Given the description of an element on the screen output the (x, y) to click on. 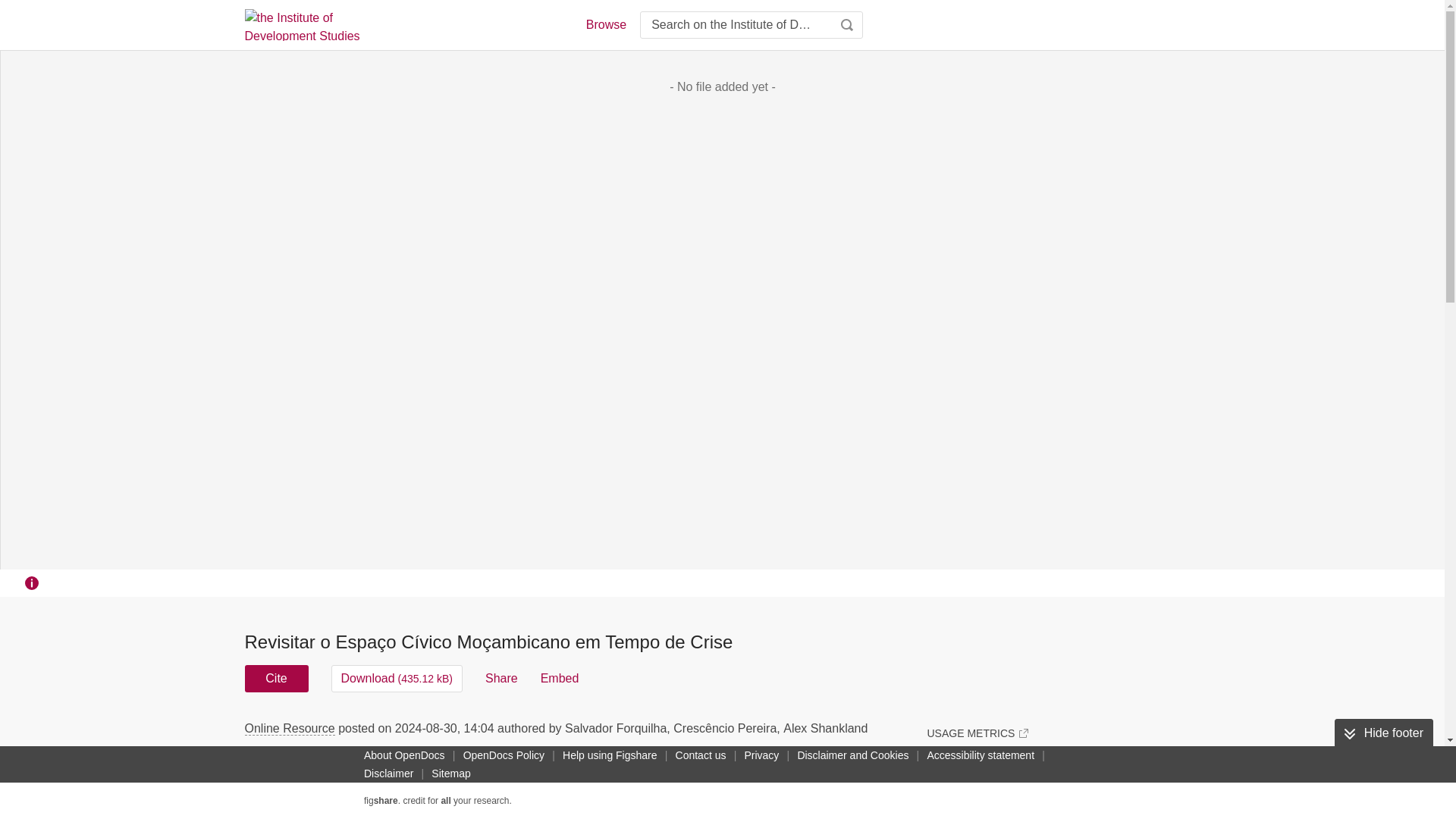
Disclaimer (388, 773)
Privacy (761, 755)
Browse (605, 24)
Disclaimer and Cookies (852, 755)
Cite (275, 678)
Hide footer (1383, 733)
Help using Figshare (609, 755)
Embed (559, 678)
About OpenDocs (404, 755)
Share (501, 678)
